Given the description of an element on the screen output the (x, y) to click on. 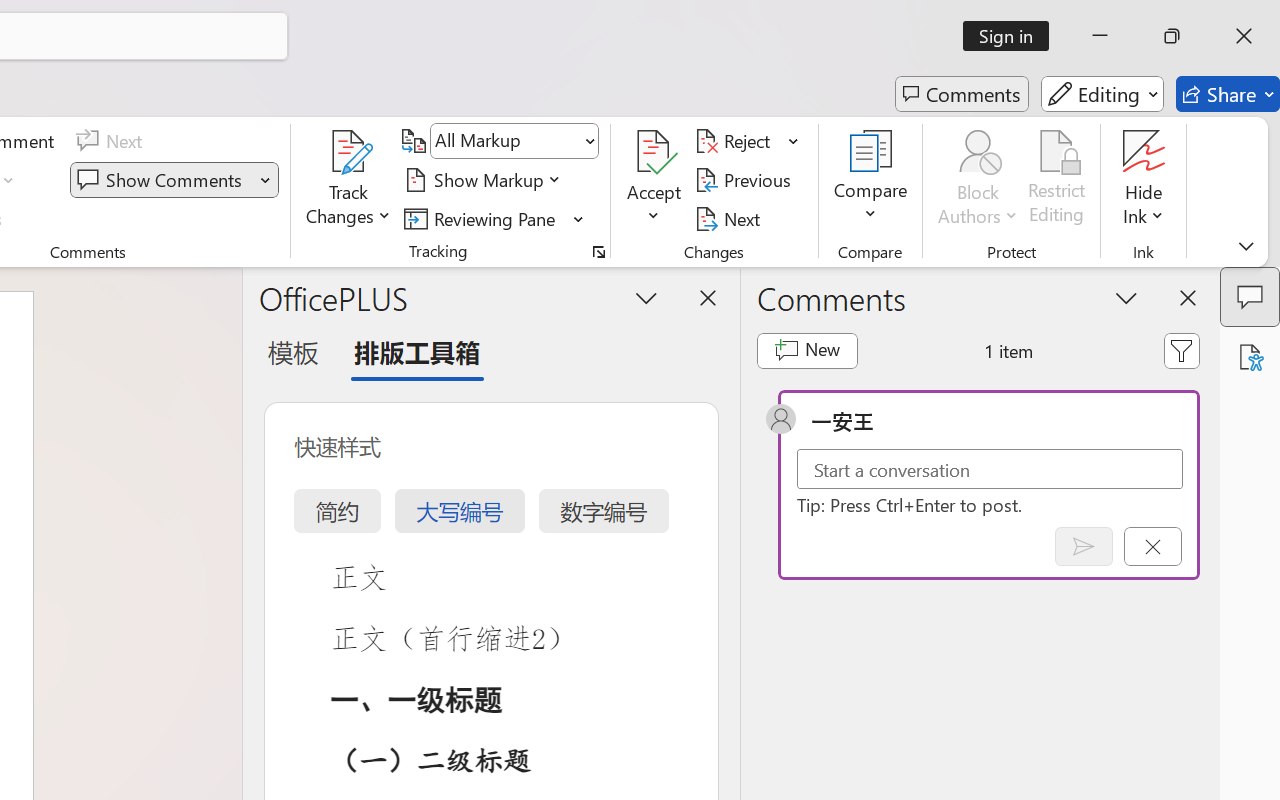
Previous (745, 179)
Reject (747, 141)
New comment (806, 350)
Track Changes (349, 179)
Block Authors (977, 151)
Post comment (Ctrl + Enter) (1083, 546)
Display for Review (514, 141)
Restrict Editing (1057, 179)
Accept (653, 179)
Hide Ink (1144, 151)
